Given the description of an element on the screen output the (x, y) to click on. 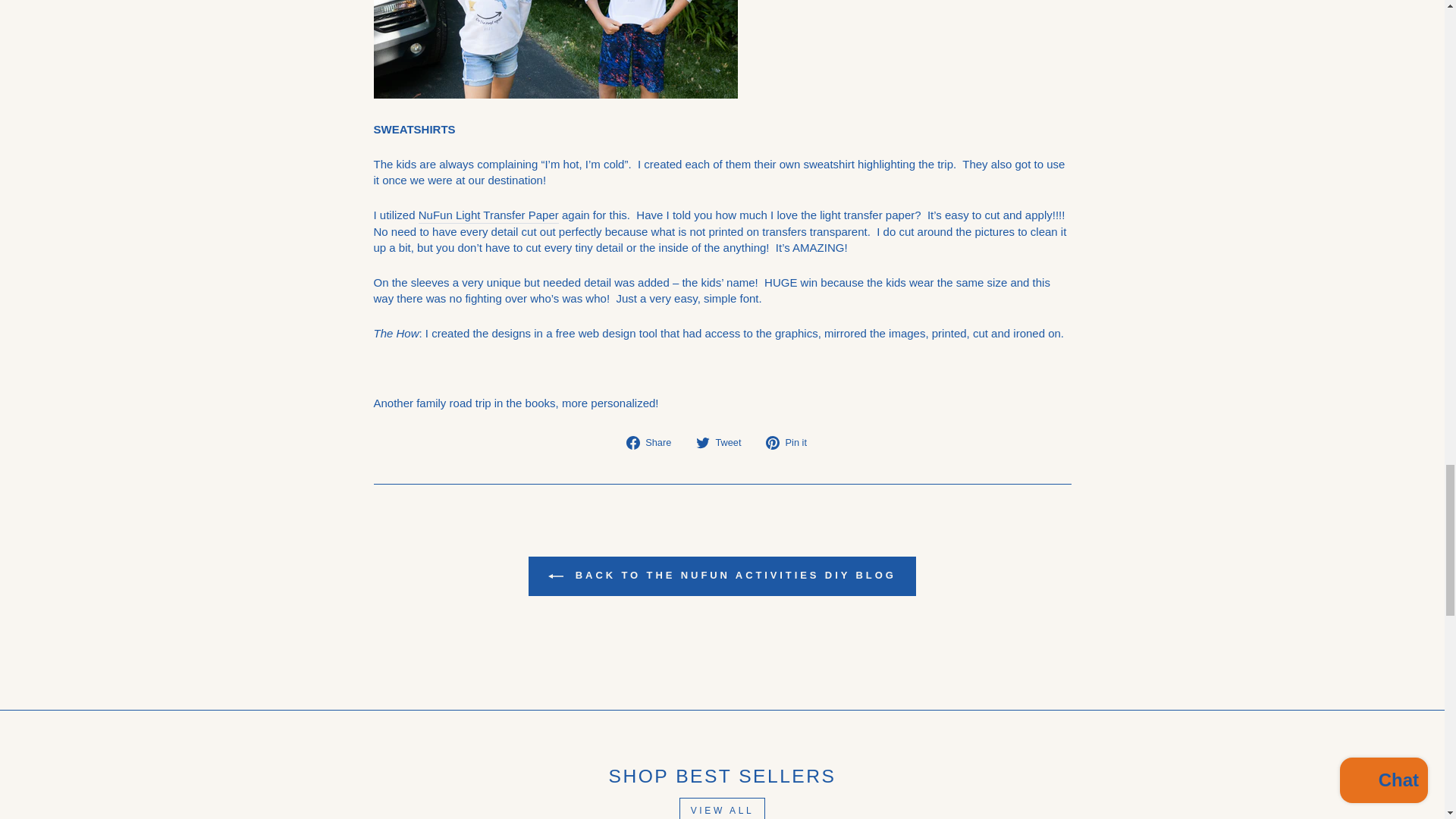
Tweet on Twitter (723, 441)
NuFun DIY Light Transfer Paper (489, 215)
Pin on Pinterest (791, 441)
Share on Facebook (654, 441)
